Given the description of an element on the screen output the (x, y) to click on. 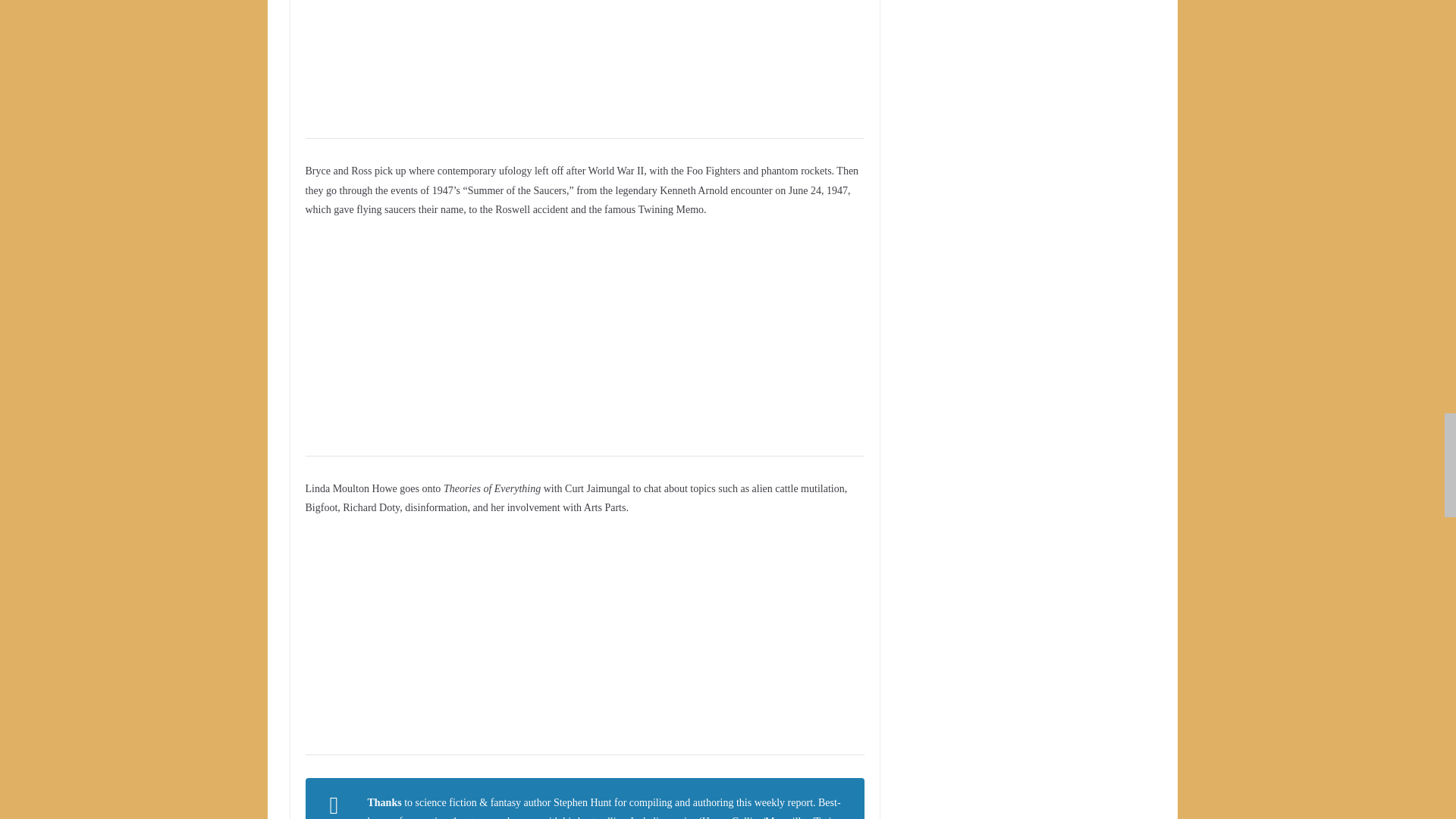
Stephen Hunt (582, 802)
